Given the description of an element on the screen output the (x, y) to click on. 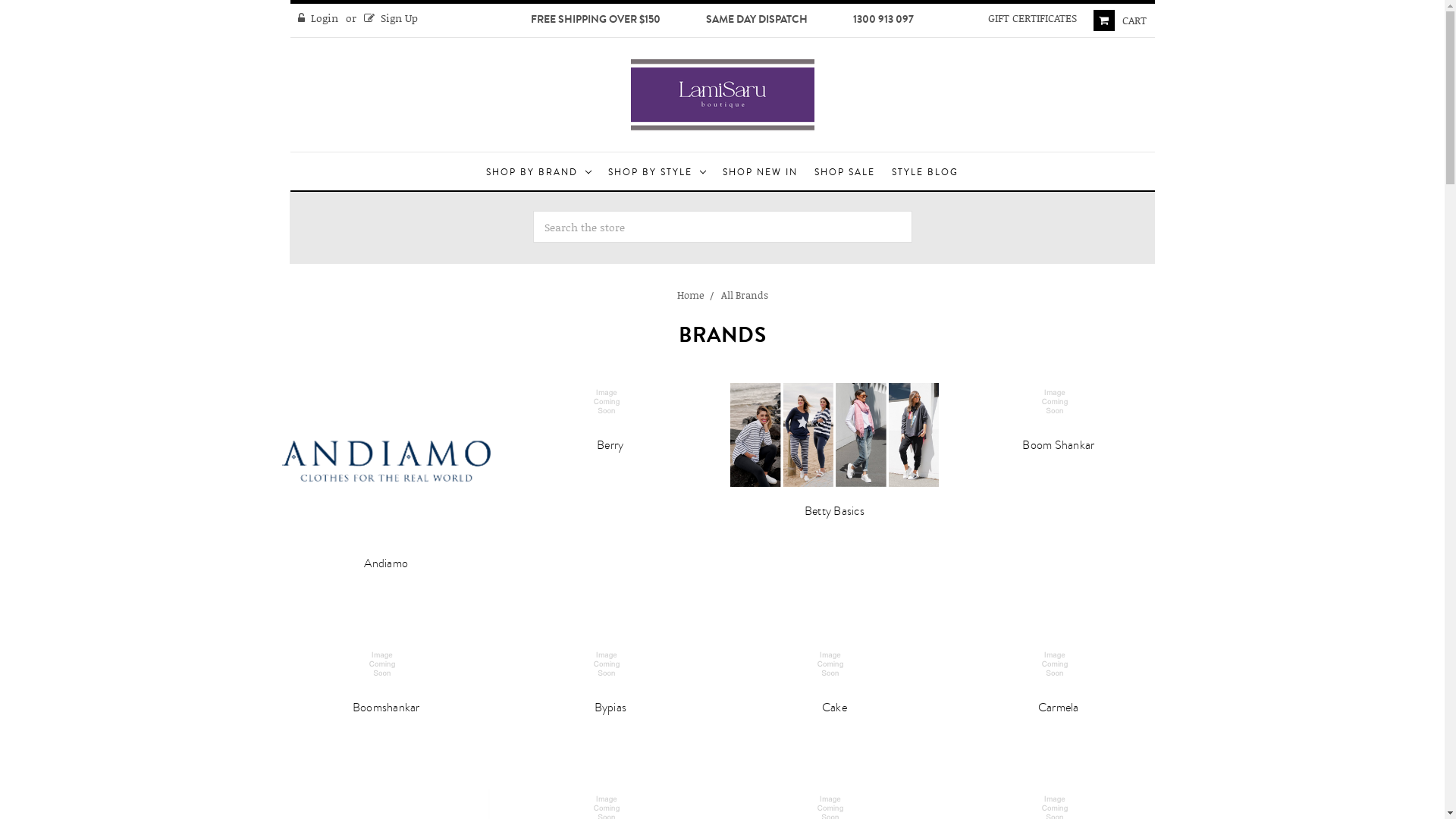
Cake Element type: text (834, 707)
SAME DAY DISPATCH Element type: text (756, 19)
STYLE BLOG Element type: text (925, 171)
SHOP SALE Element type: text (844, 171)
Bypias Element type: text (610, 707)
SHOP BY STYLE Element type: text (656, 171)
Andiamo Element type: text (385, 563)
GIFT CERTIFICATES Element type: text (1032, 17)
Betty Basics Element type: text (834, 510)
Boom Shankar Element type: text (1058, 444)
SHOP BY BRAND Element type: text (538, 171)
CART Element type: text (1119, 20)
Berry Element type: text (609, 444)
FREE SHIPPING OVER $150 Element type: text (595, 19)
Boomshankar Element type: text (386, 707)
Login Element type: text (317, 17)
Home Element type: text (689, 294)
Sign Up Element type: text (391, 17)
SHOP NEW IN Element type: text (760, 171)
Carmela Element type: text (1058, 707)
All Brands Element type: text (743, 294)
